Given the description of an element on the screen output the (x, y) to click on. 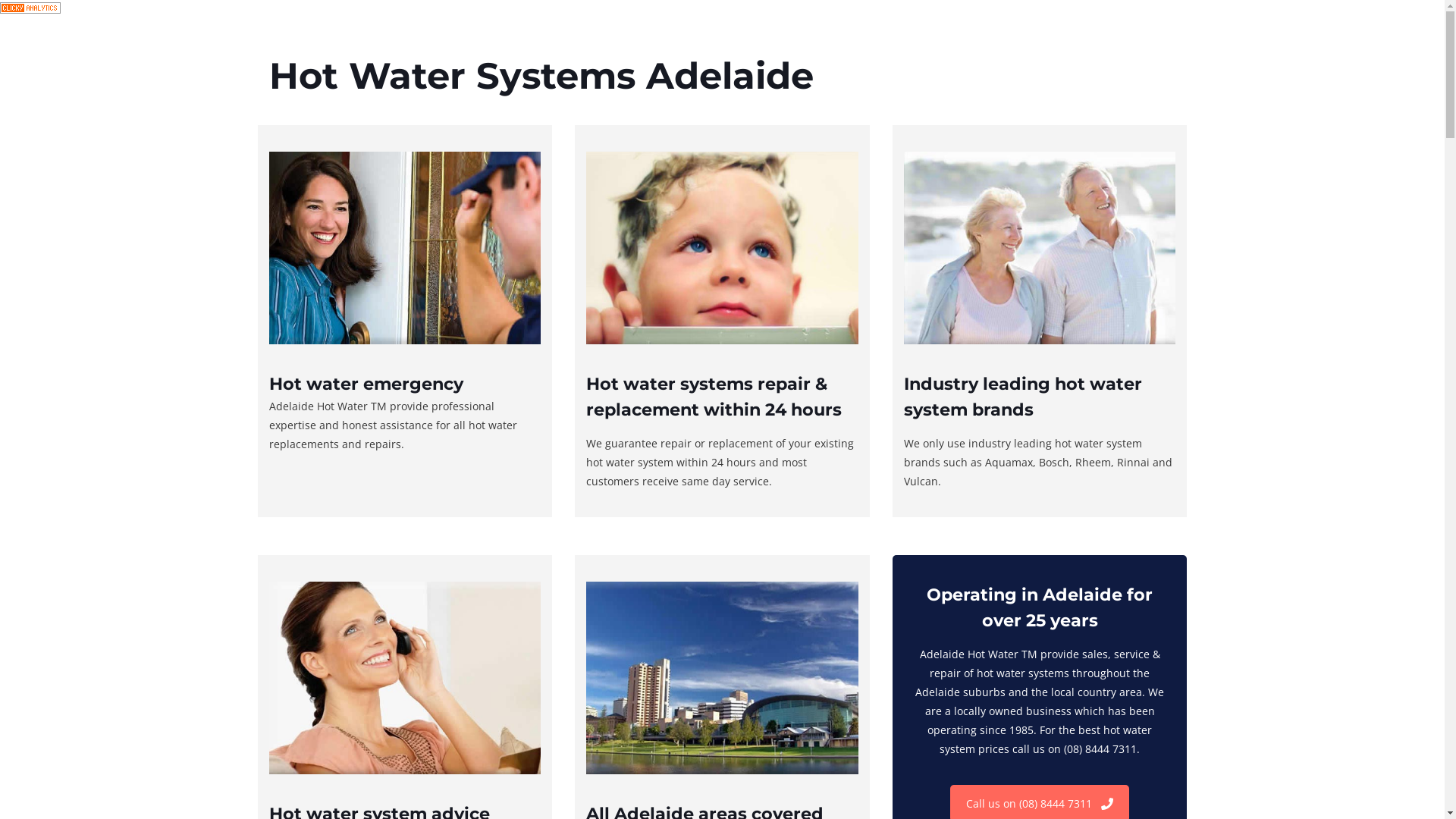
Google Analytics Alternative Element type: hover (30, 9)
